Given the description of an element on the screen output the (x, y) to click on. 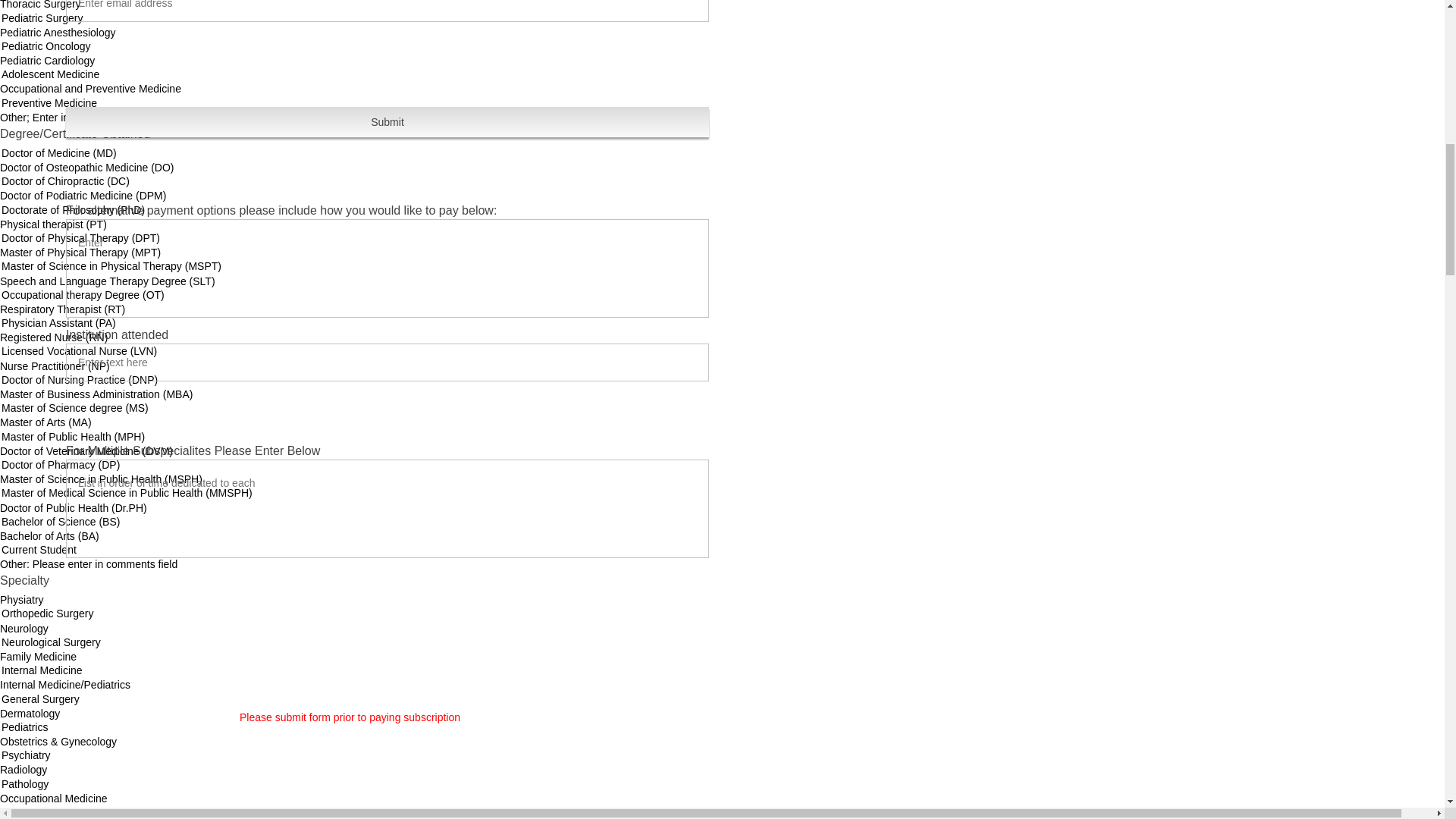
Submit (387, 122)
